Given the description of an element on the screen output the (x, y) to click on. 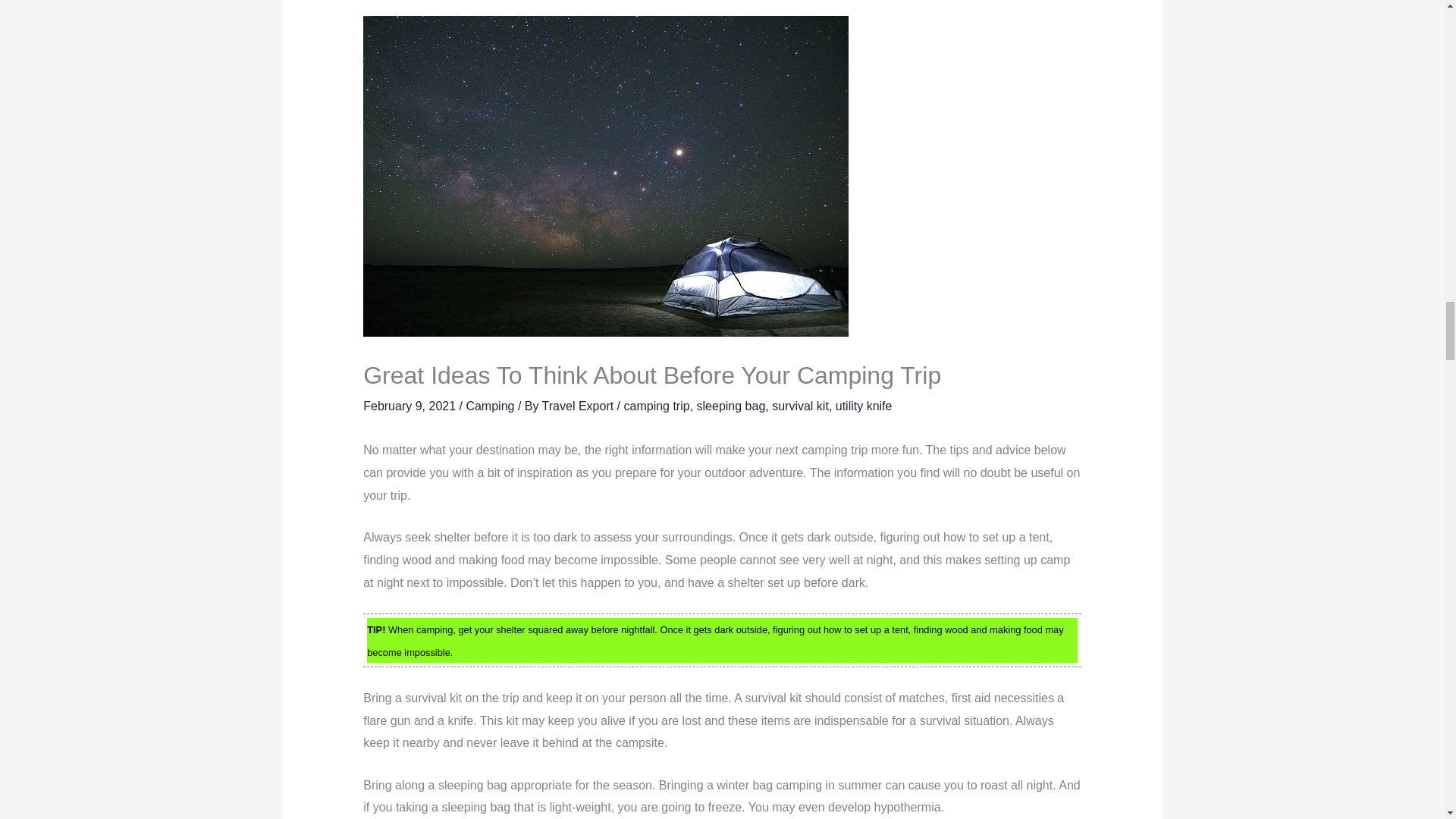
camping trip (655, 405)
Travel Export (579, 405)
utility knife (863, 405)
sleeping bag (731, 405)
Camping (489, 405)
survival kit (799, 405)
View all posts by Travel Export (579, 405)
